Given the description of an element on the screen output the (x, y) to click on. 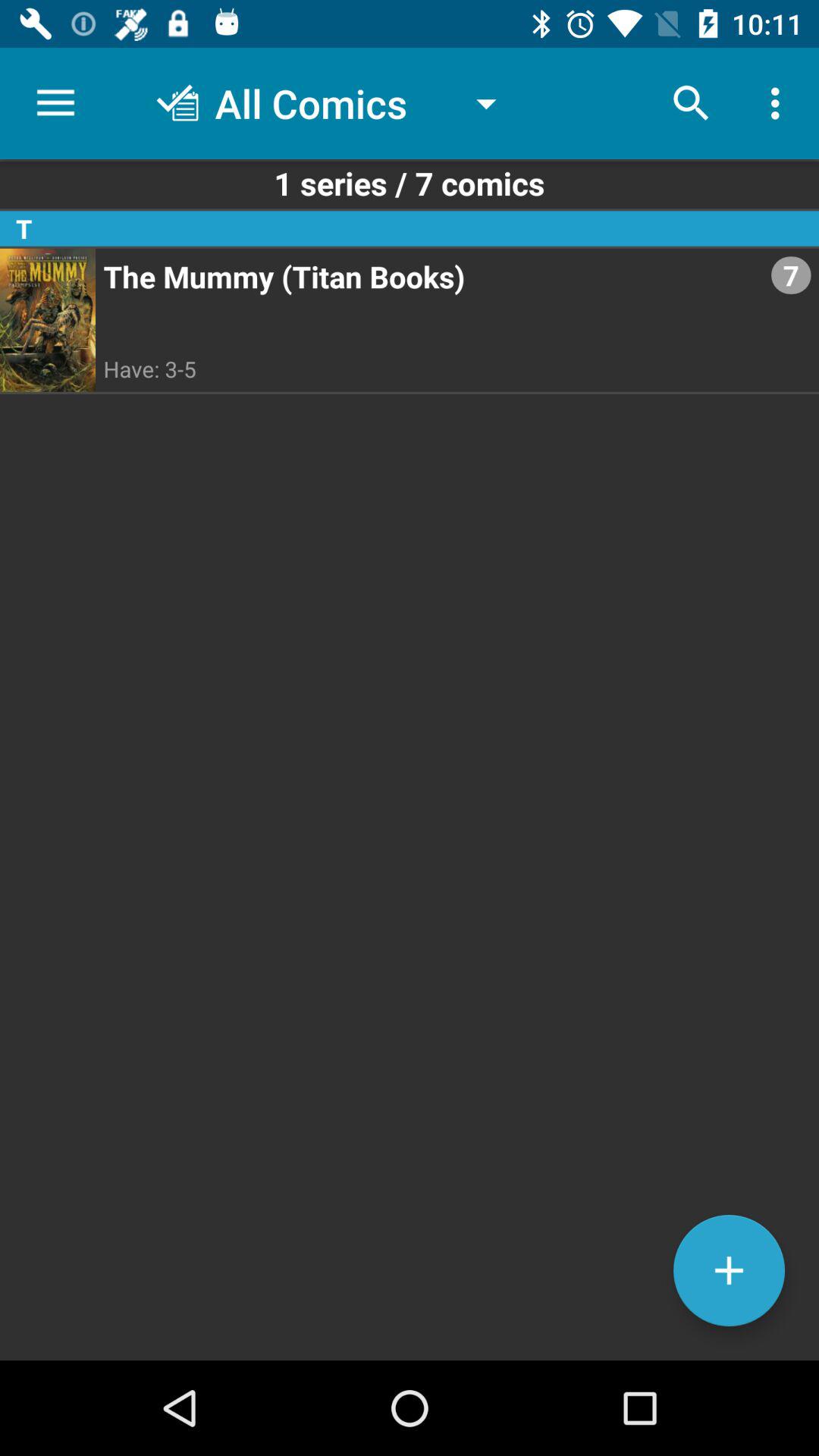
turn on icon to the right of all comics icon (691, 103)
